Given the description of an element on the screen output the (x, y) to click on. 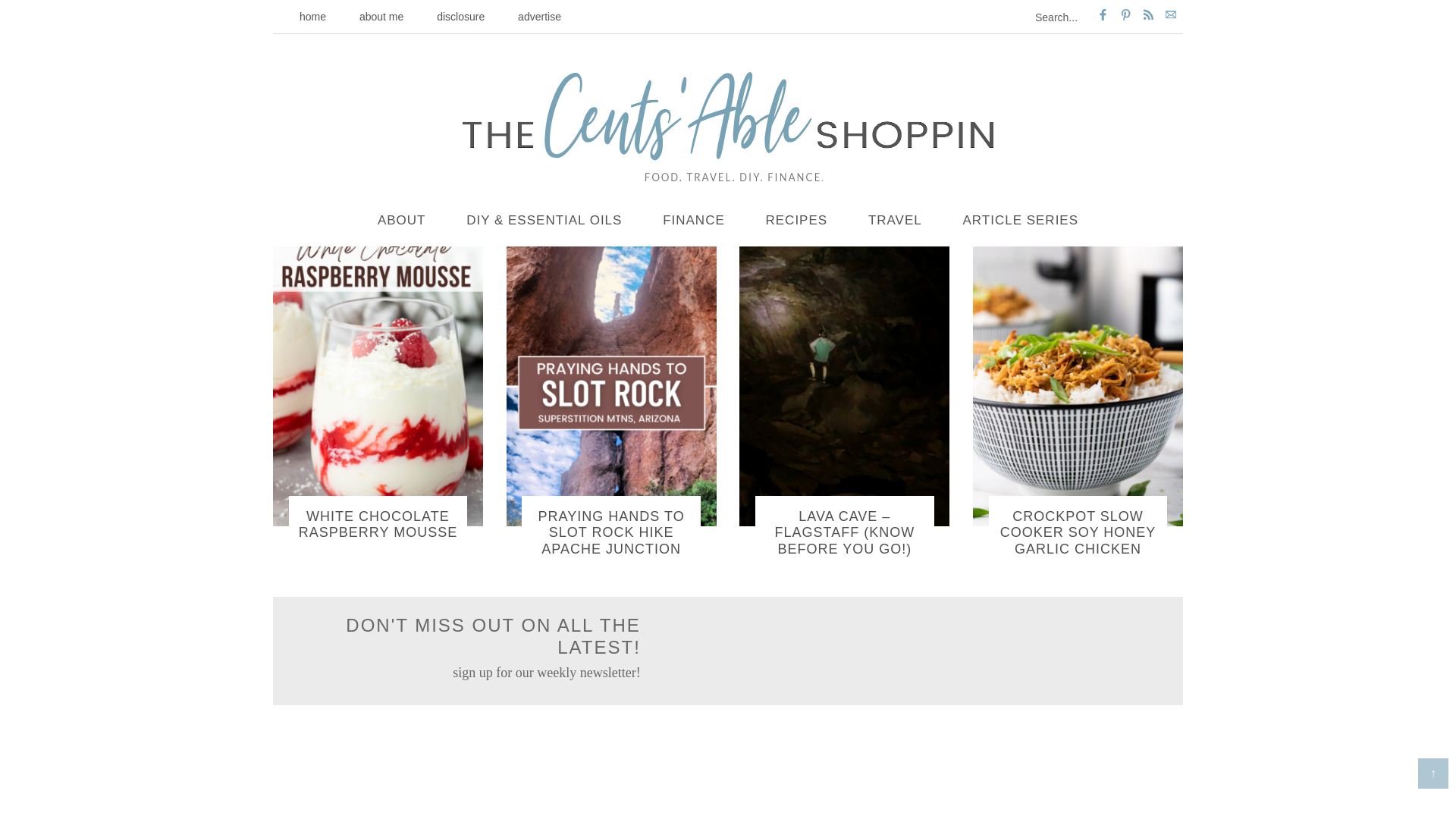
about me (381, 16)
home (311, 16)
advertise (539, 16)
FINANCE (693, 220)
ARTICLE SERIES (1019, 220)
disclosure (460, 16)
Crockpot Slow Cooker Soy Honey Garlic Chicken (1078, 532)
WHITE CHOCOLATE RASPBERRY MOUSSE (377, 524)
TRAVEL (895, 220)
Praying Hands to Slot Rock Hike Apache Junction (611, 532)
